Given the description of an element on the screen output the (x, y) to click on. 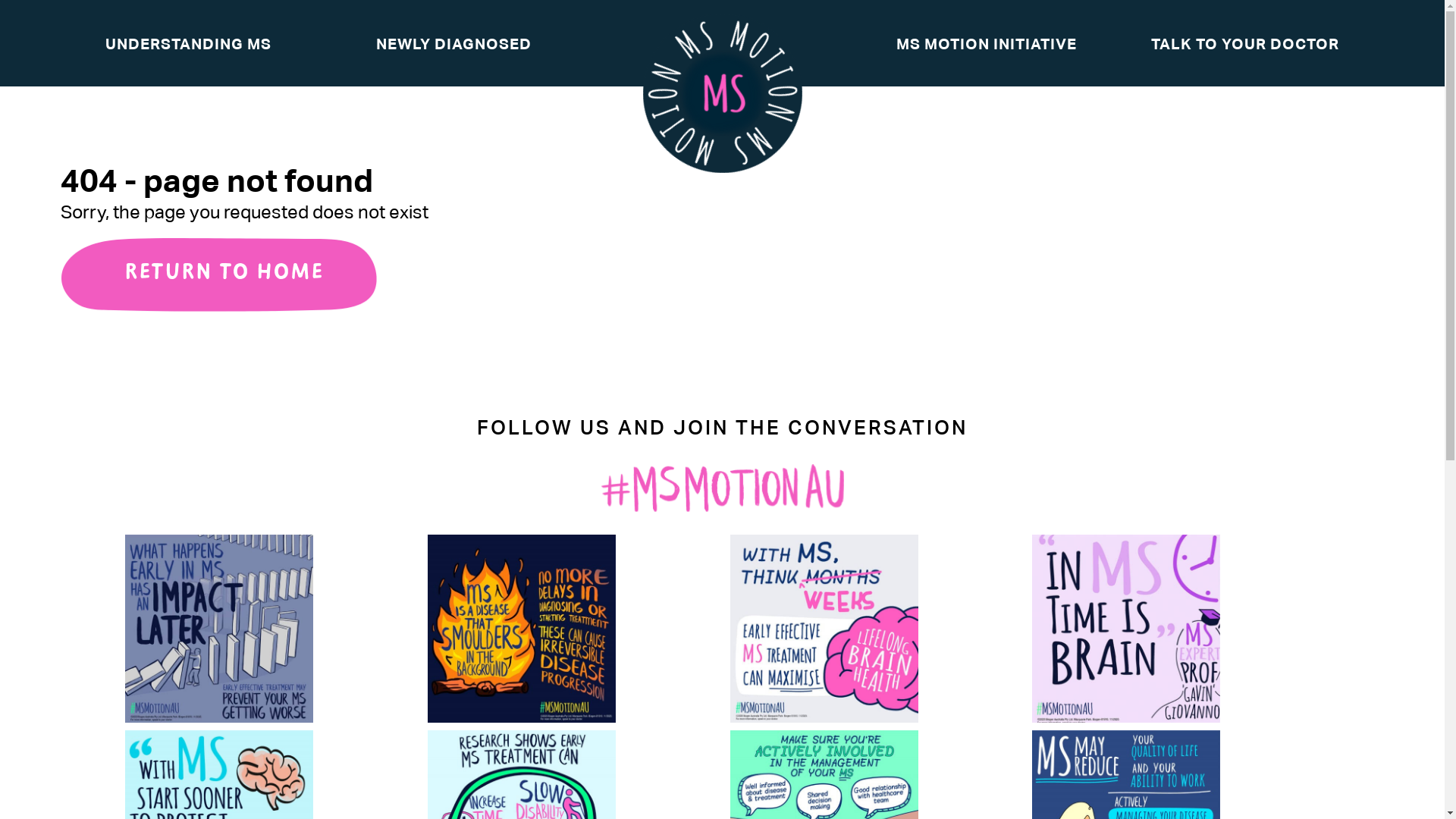
MS MOTION INITIATIVE Element type: text (986, 44)
TALK TO YOUR DOCTOR Element type: text (1245, 44)
UNDERSTANDING MS Element type: text (188, 44)
RETURN TO HOME Element type: text (218, 274)
NEWLY DIAGNOSED Element type: text (453, 44)
